Given the description of an element on the screen output the (x, y) to click on. 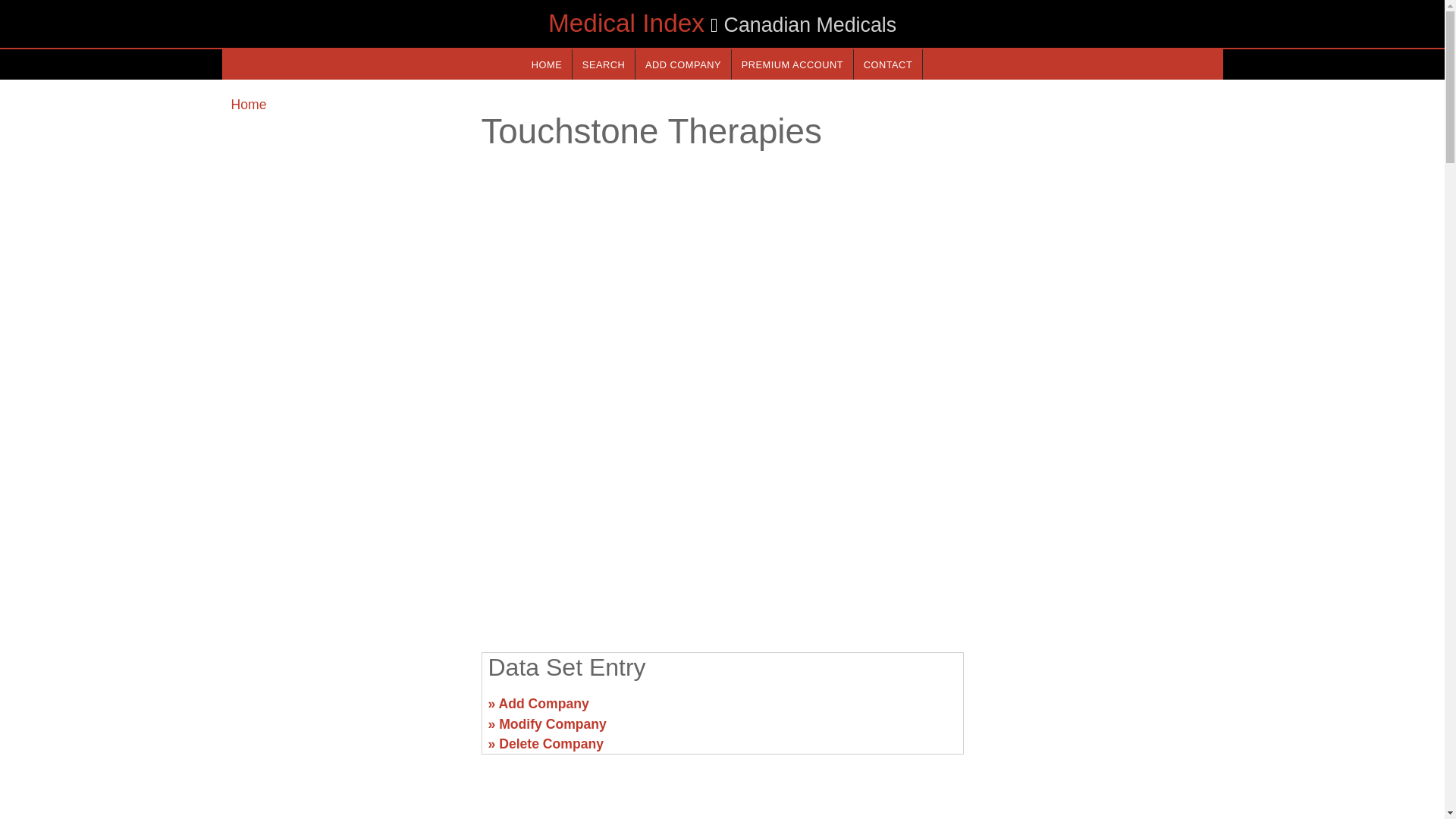
Premium account (792, 64)
Medical Index (626, 22)
Search in this webseite. (603, 64)
Advertisement (1096, 710)
CONTACT (887, 64)
Advertisement (346, 710)
Advertisement (721, 522)
ADD COMPANY (682, 64)
HOME (546, 64)
Add a new company (682, 64)
PREMIUM ACCOUNT (792, 64)
Home (248, 104)
SEARCH (603, 64)
